Given the description of an element on the screen output the (x, y) to click on. 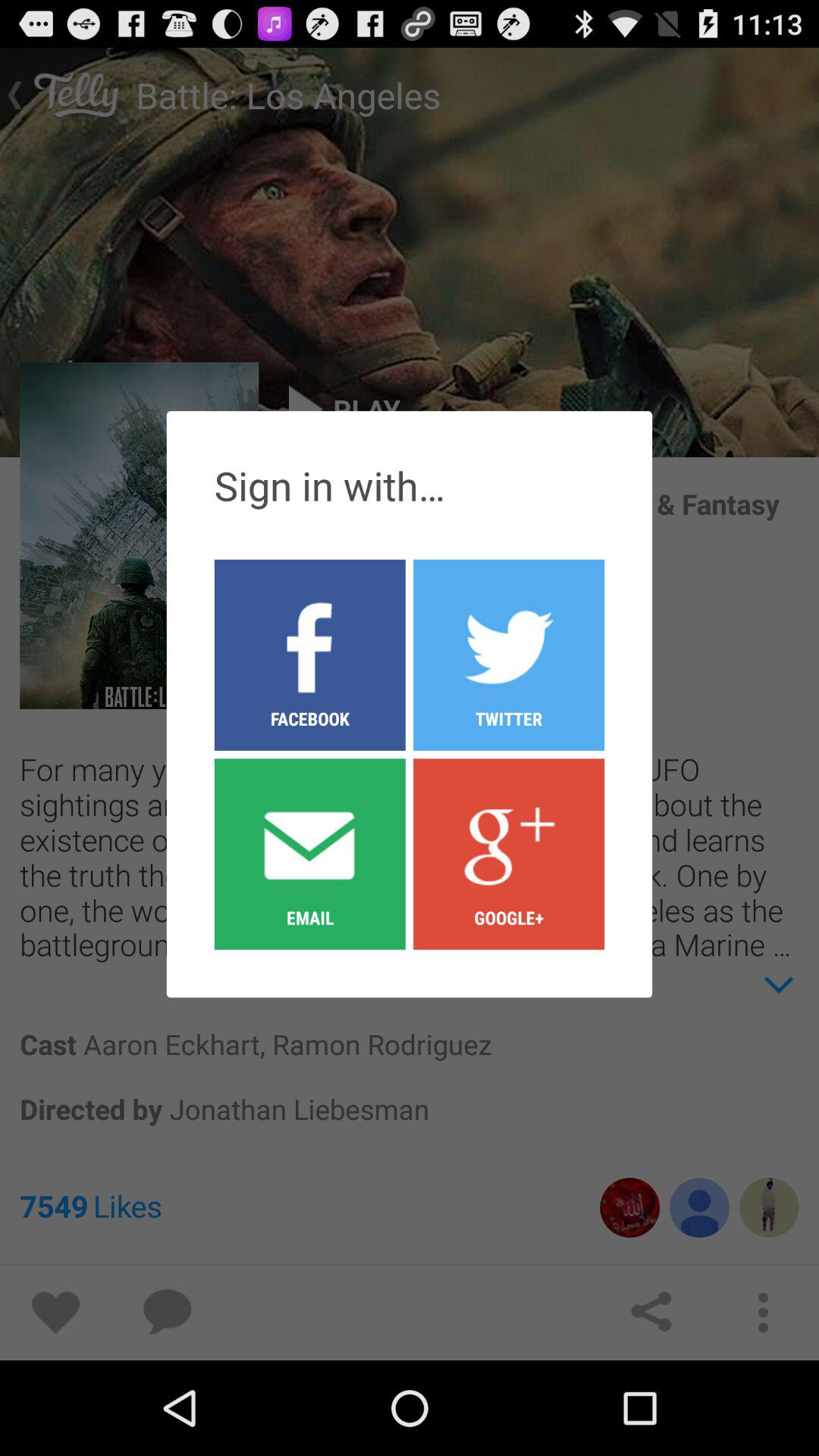
swipe to the facebook button (309, 654)
